Given the description of an element on the screen output the (x, y) to click on. 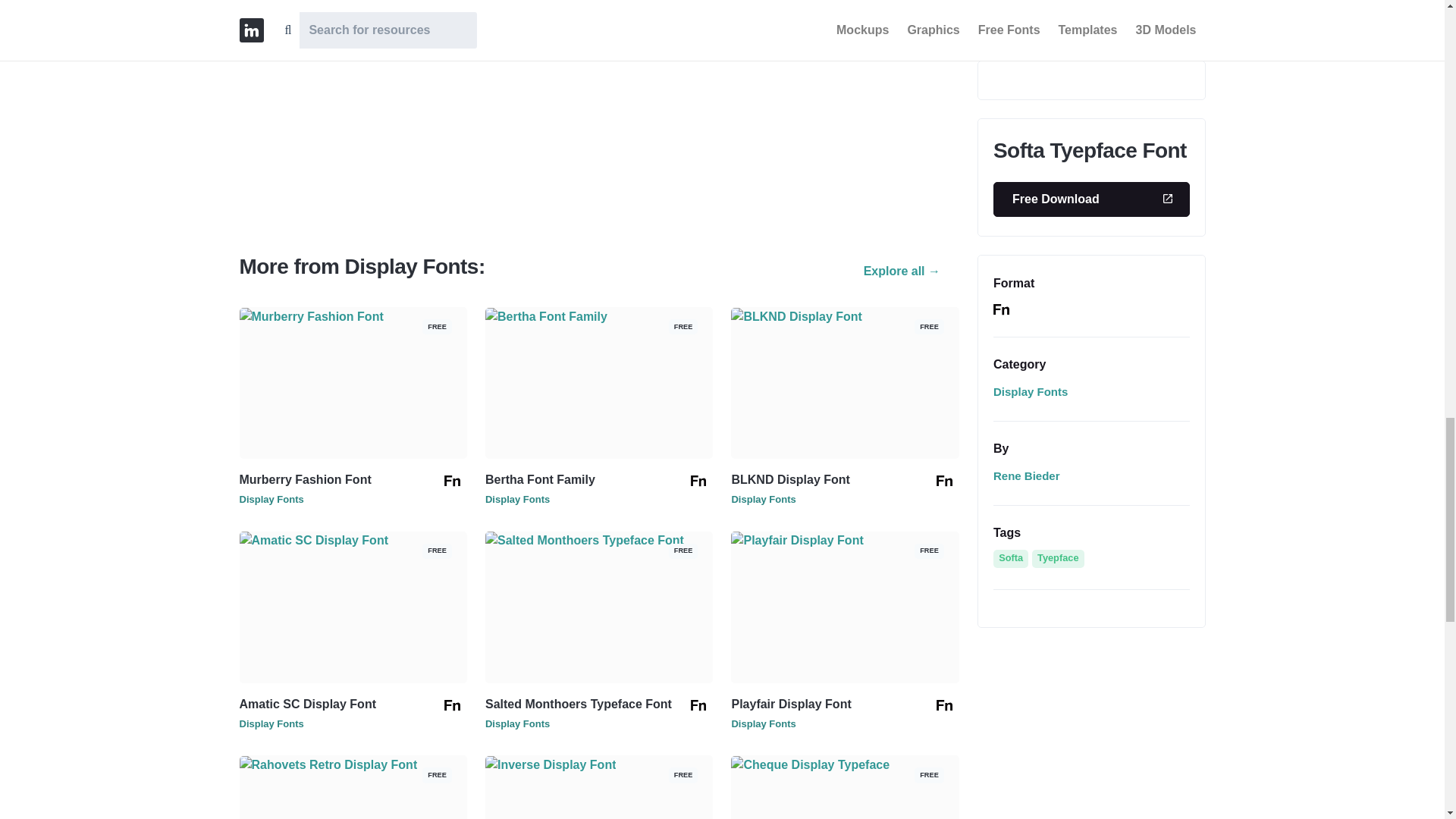
Amatic SC Display Font (307, 703)
Font (698, 480)
Display Fonts (272, 499)
Font (452, 480)
Font (698, 704)
FREE (353, 764)
FREE (353, 540)
FREE (598, 540)
Display Fonts (272, 723)
Font (944, 704)
